Given the description of an element on the screen output the (x, y) to click on. 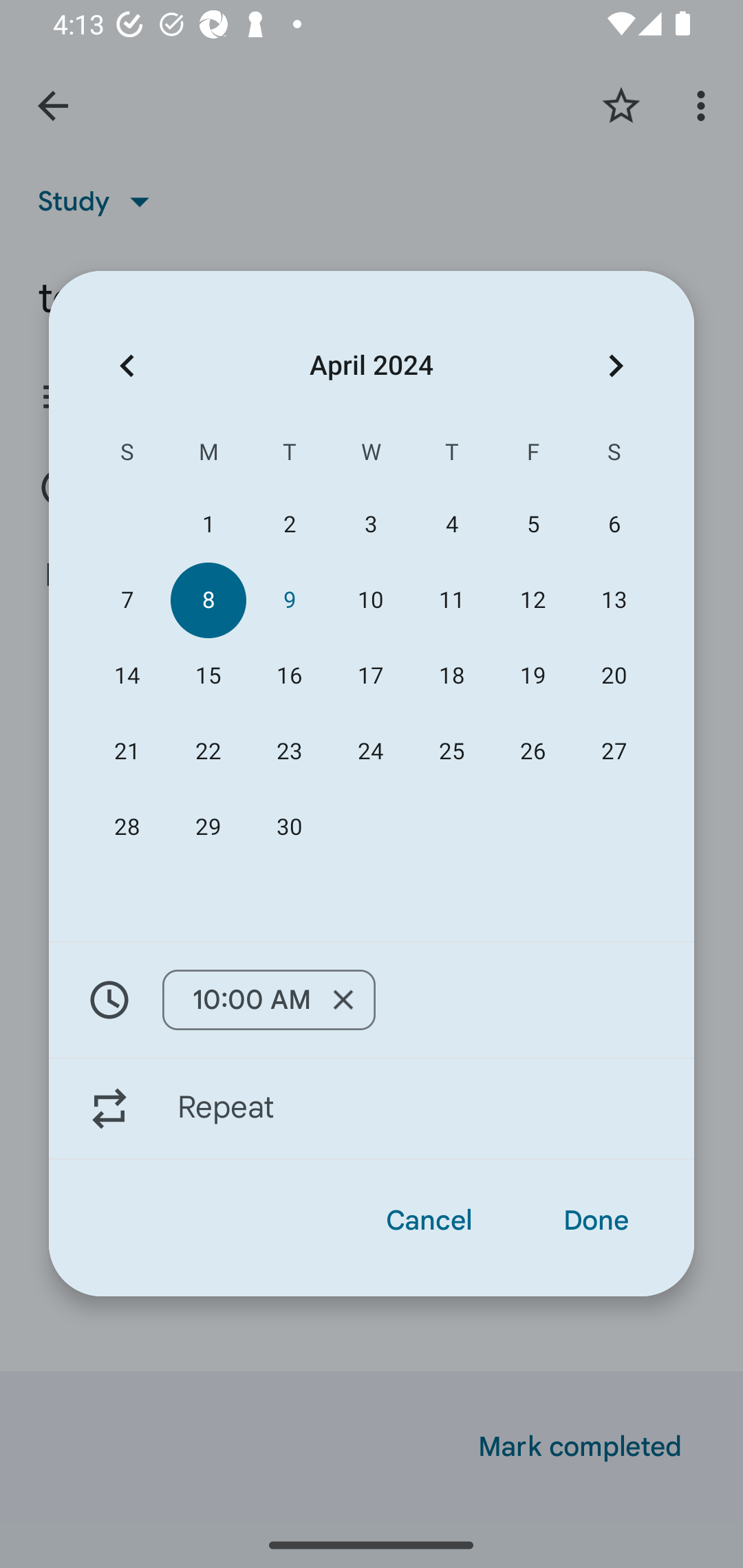
Previous month (126, 364)
Next month (615, 364)
1 01 April 2024 (207, 524)
2 02 April 2024 (288, 524)
3 03 April 2024 (370, 524)
4 04 April 2024 (451, 524)
5 05 April 2024 (532, 524)
6 06 April 2024 (613, 524)
7 07 April 2024 (126, 600)
8 08 April 2024 (207, 600)
9 09 April 2024 (288, 600)
10 10 April 2024 (370, 600)
11 11 April 2024 (451, 600)
12 12 April 2024 (532, 600)
13 13 April 2024 (613, 600)
14 14 April 2024 (126, 675)
15 15 April 2024 (207, 675)
16 16 April 2024 (288, 675)
17 17 April 2024 (370, 675)
18 18 April 2024 (451, 675)
19 19 April 2024 (532, 675)
20 20 April 2024 (613, 675)
21 21 April 2024 (126, 751)
22 22 April 2024 (207, 751)
23 23 April 2024 (288, 751)
24 24 April 2024 (370, 751)
25 25 April 2024 (451, 751)
26 26 April 2024 (532, 751)
27 27 April 2024 (613, 751)
28 28 April 2024 (126, 827)
29 29 April 2024 (207, 827)
30 30 April 2024 (288, 827)
10:00 AM Remove 10:00 AM (371, 999)
10:00 AM Remove 10:00 AM (268, 999)
Repeat (371, 1108)
Cancel (429, 1220)
Done (595, 1220)
